Given the description of an element on the screen output the (x, y) to click on. 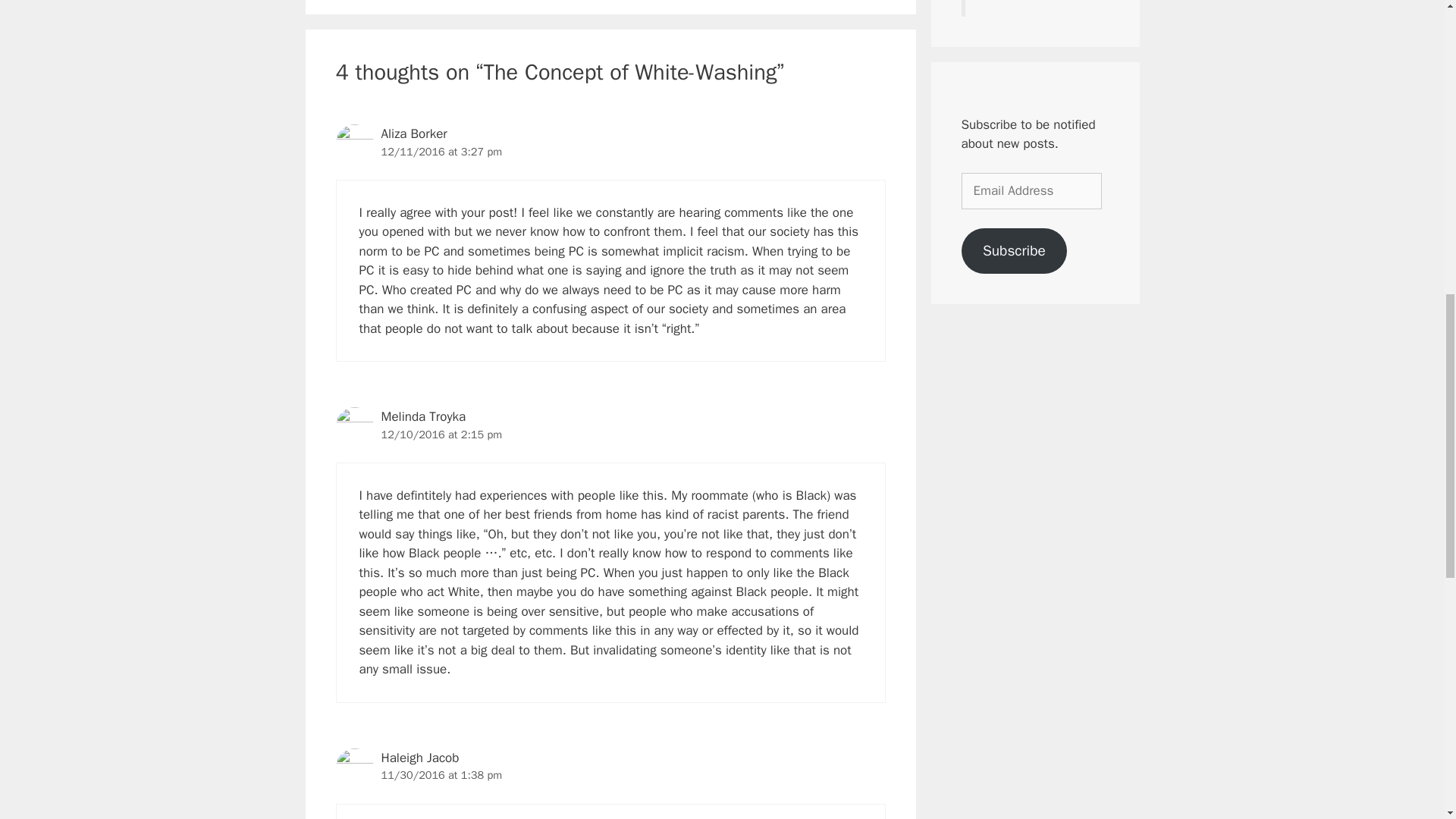
Scroll back to top (1406, 720)
